Given the description of an element on the screen output the (x, y) to click on. 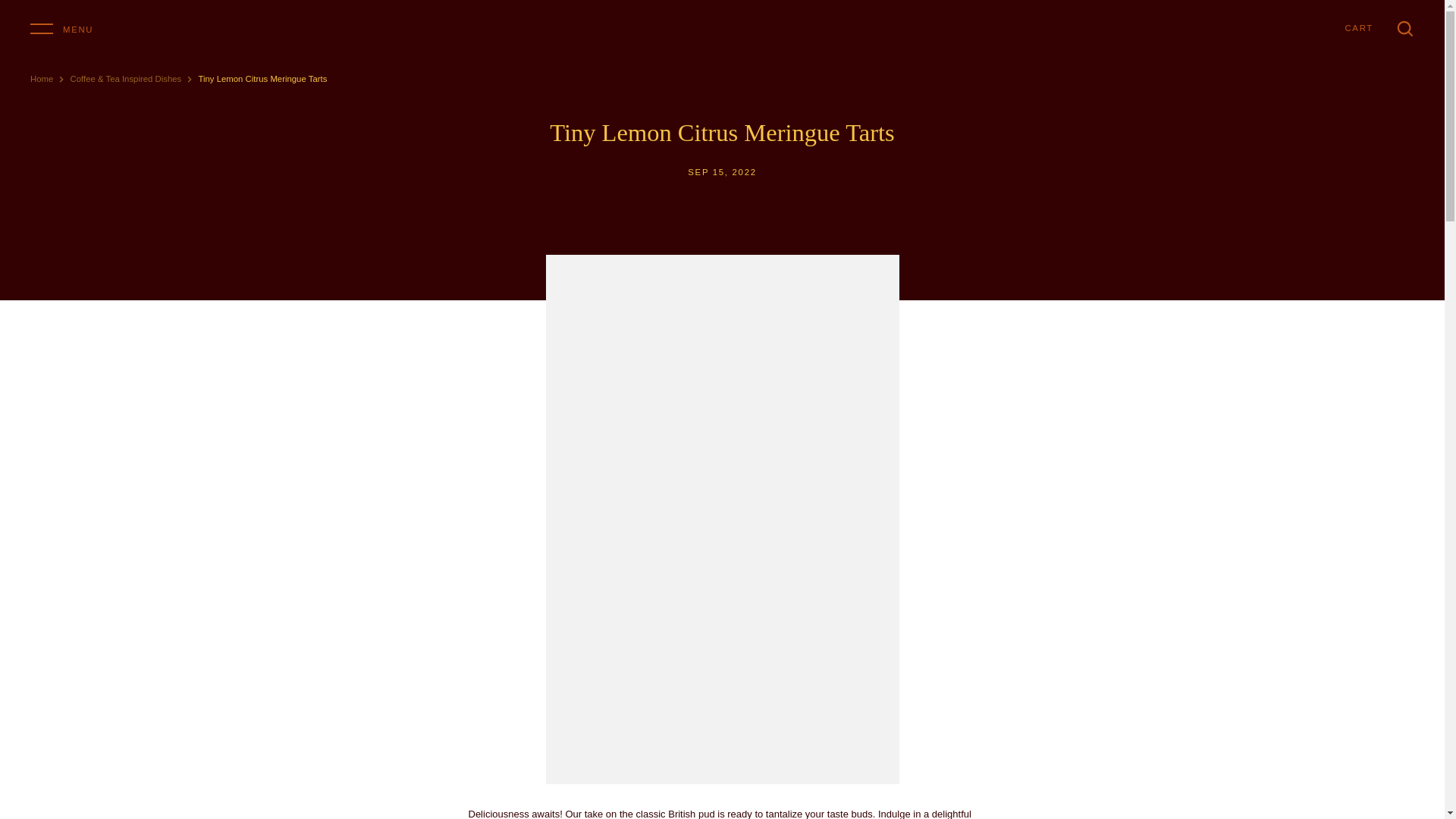
MENU (61, 27)
SEARCH (1404, 28)
SEARCH (1404, 28)
CART (1358, 27)
